Given the description of an element on the screen output the (x, y) to click on. 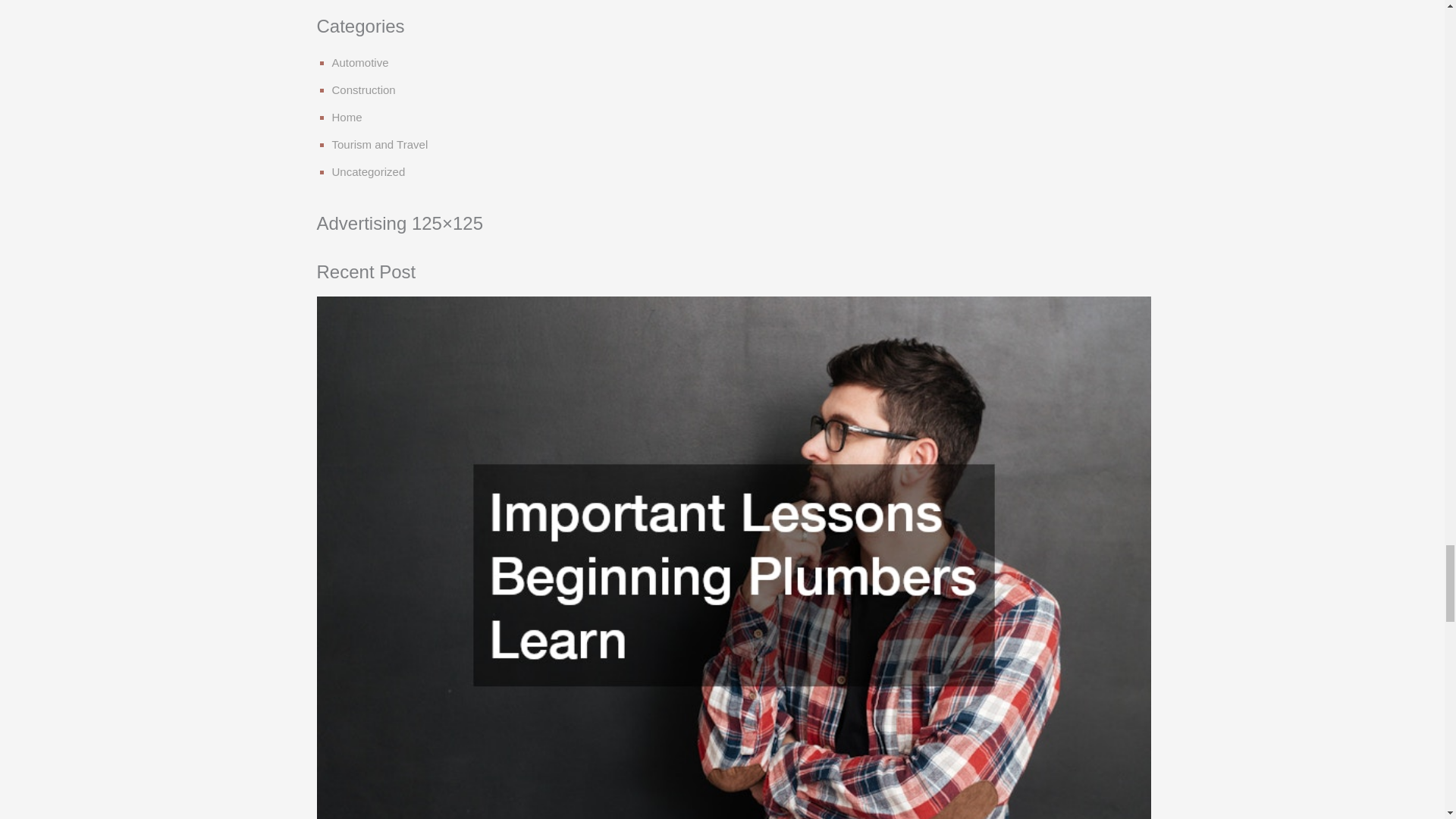
Uncategorized (368, 171)
Construction (363, 89)
Home (346, 116)
Tourism and Travel (379, 144)
Automotive (359, 62)
